Given the description of an element on the screen output the (x, y) to click on. 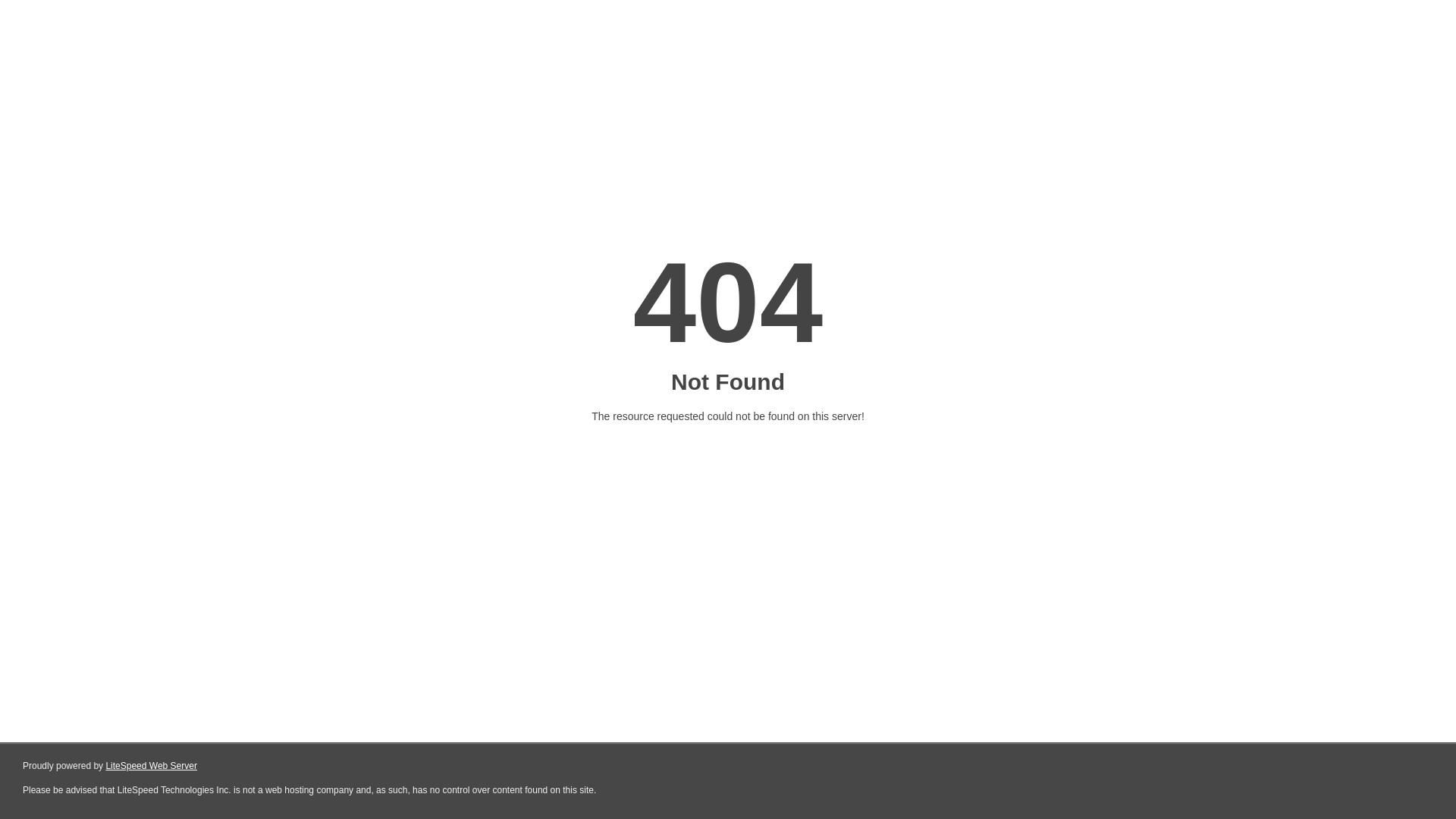
LiteSpeed Web Server (150, 765)
